Given the description of an element on the screen output the (x, y) to click on. 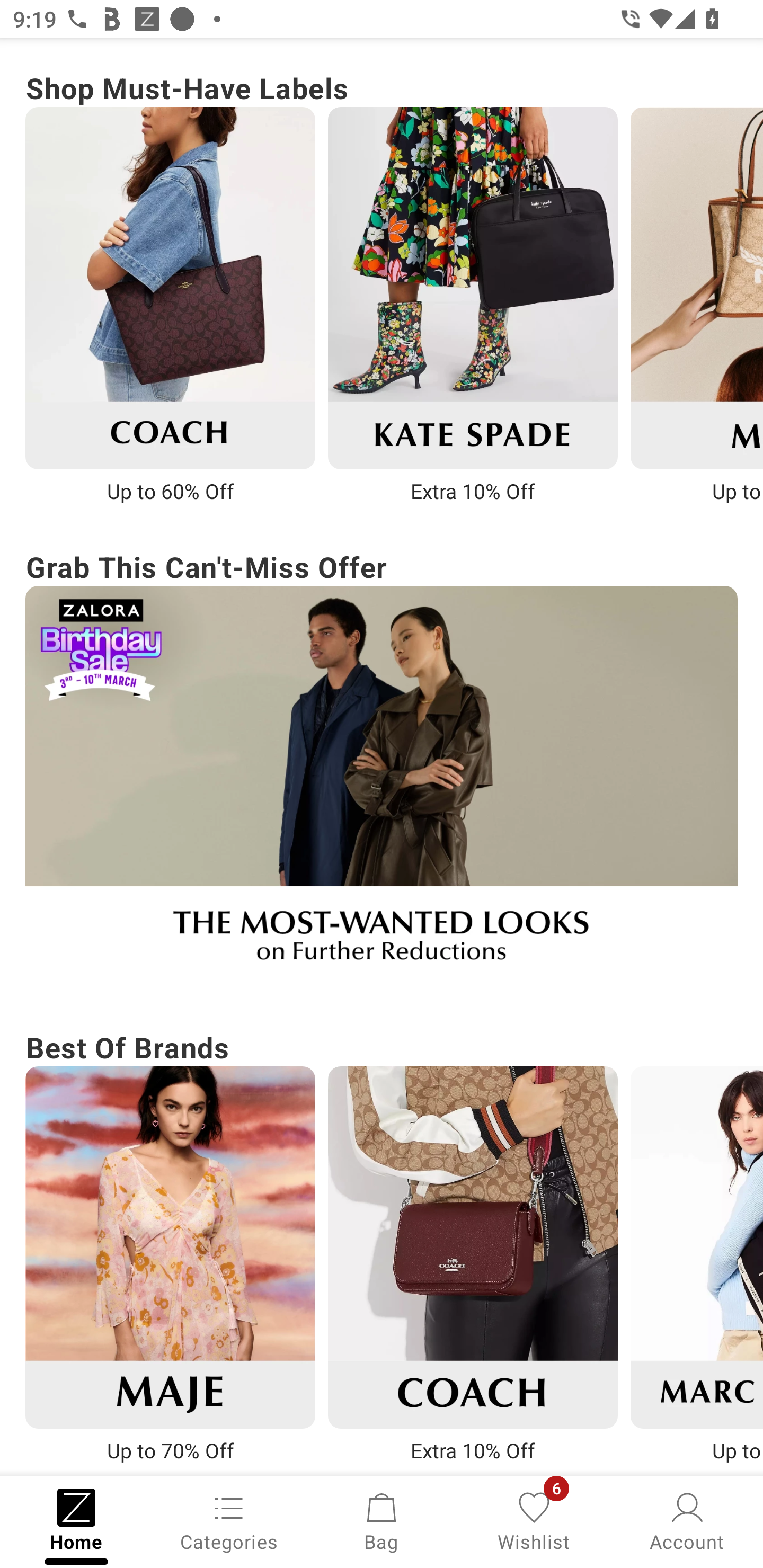
Campaign banner (170, 287)
Campaign banner (473, 287)
Grab This Can't-Miss Offer Campaign banner (381, 765)
Campaign banner (381, 786)
Campaign banner (170, 1247)
Campaign banner (473, 1247)
Categories (228, 1519)
Bag (381, 1519)
Wishlist, 6 new notifications Wishlist (533, 1519)
Account (686, 1519)
